Given the description of an element on the screen output the (x, y) to click on. 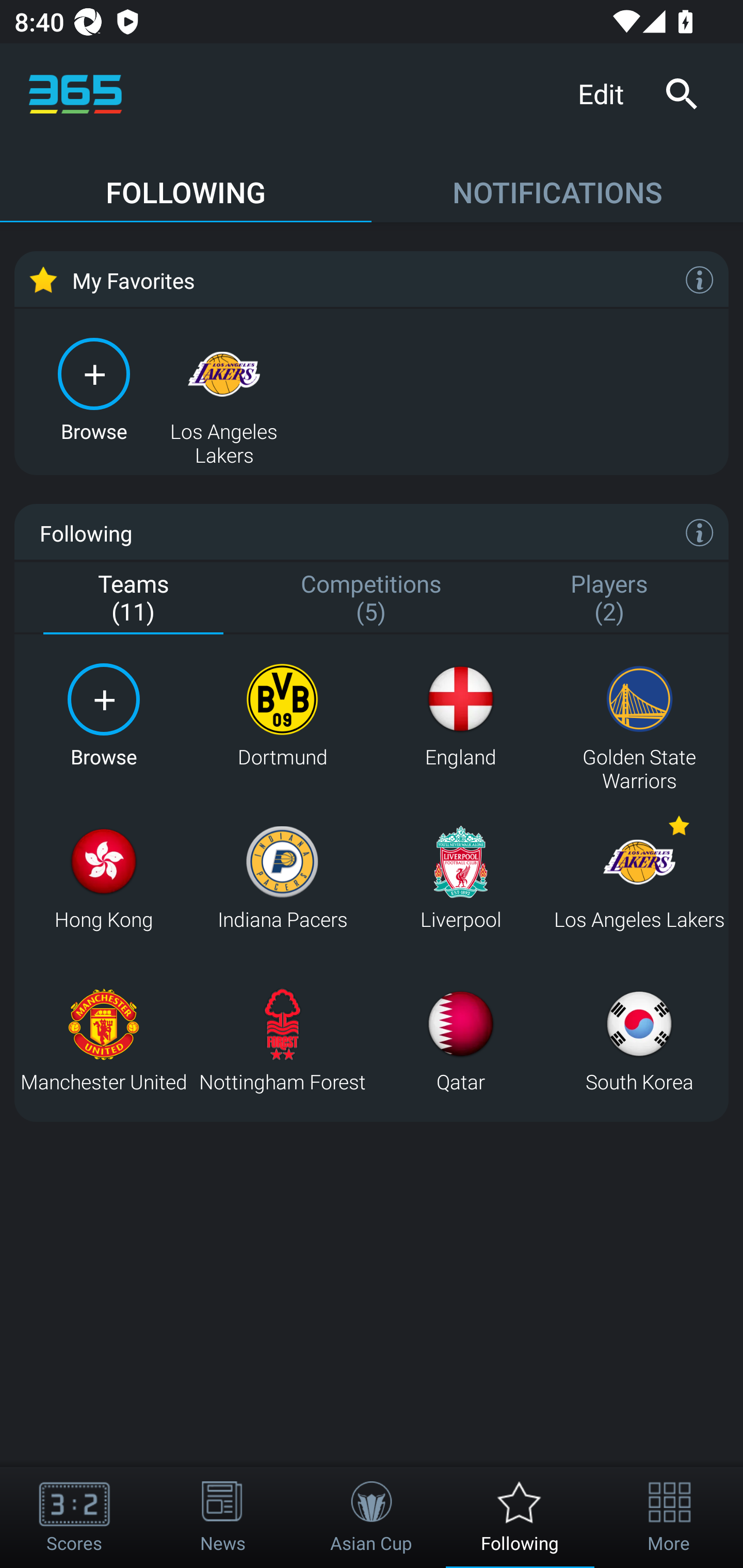
Search (681, 93)
Edit (608, 93)
FOLLOWING (185, 183)
NOTIFICATIONS (557, 183)
Browse (93, 387)
Los Angeles Lakers (224, 387)
Competitions
(5) (371, 598)
Players
(2) (609, 598)
Browse (103, 715)
Dortmund (282, 715)
England (460, 715)
Golden State Warriors (638, 715)
Hong Kong (103, 877)
Indiana Pacers (282, 877)
Liverpool (460, 877)
Los Angeles Lakers (638, 877)
Manchester United (103, 1040)
Nottingham Forest (282, 1040)
Qatar (460, 1040)
South Korea (638, 1040)
Scores (74, 1517)
News (222, 1517)
Asian Cup (371, 1517)
More (668, 1517)
